Given the description of an element on the screen output the (x, y) to click on. 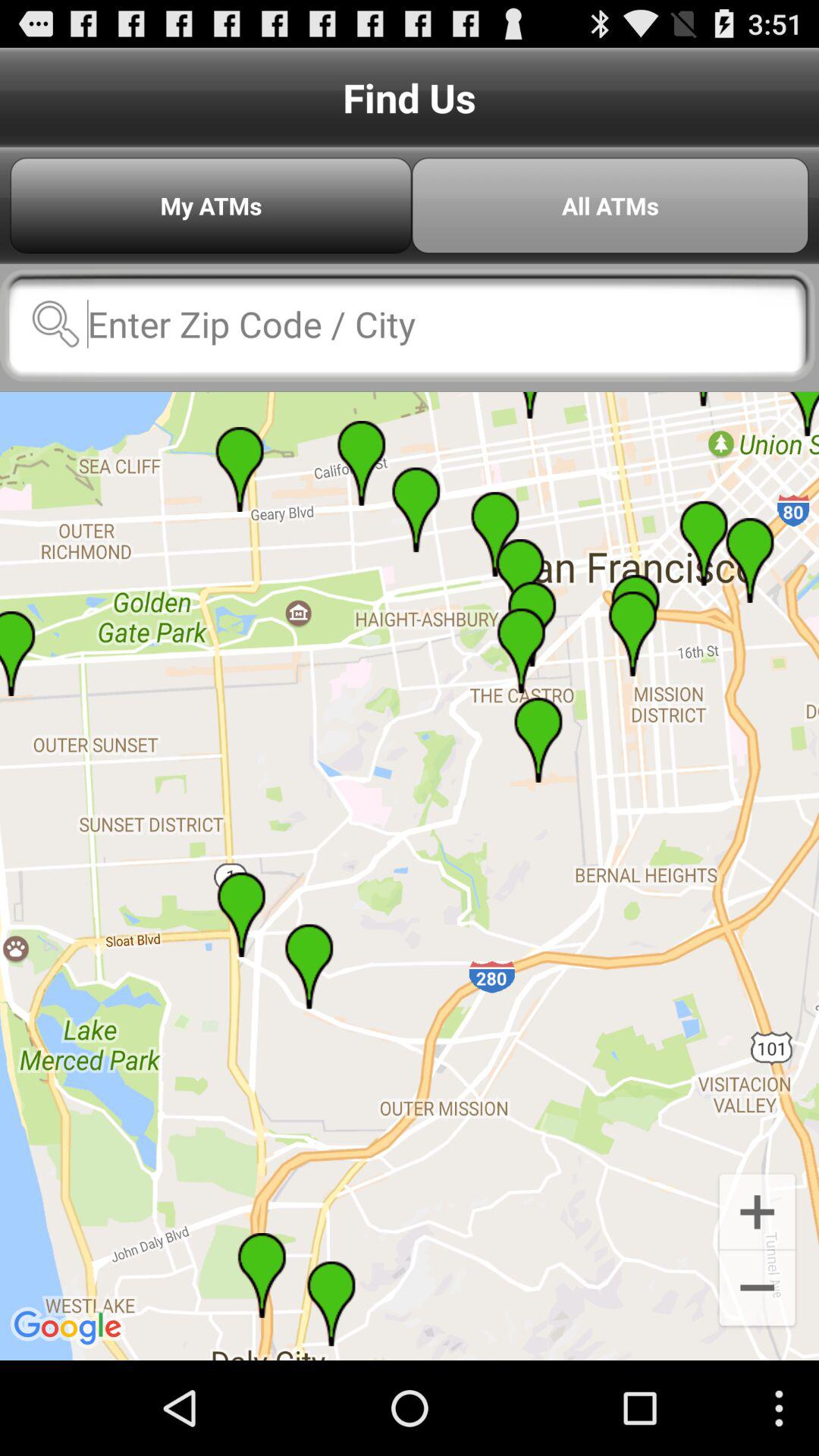
zip code field (407, 323)
